Given the description of an element on the screen output the (x, y) to click on. 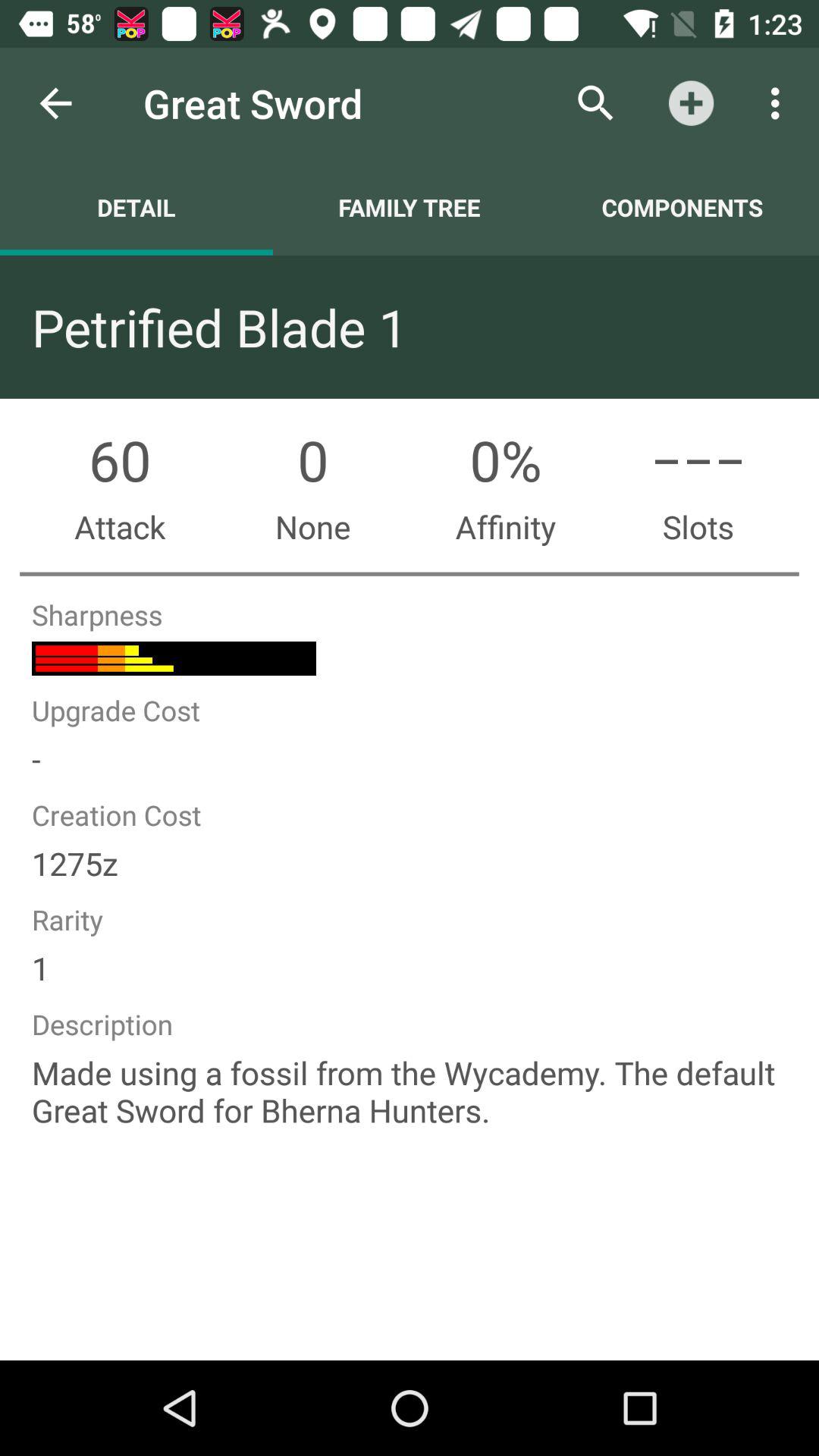
choose item to the left of great sword icon (55, 103)
